Given the description of an element on the screen output the (x, y) to click on. 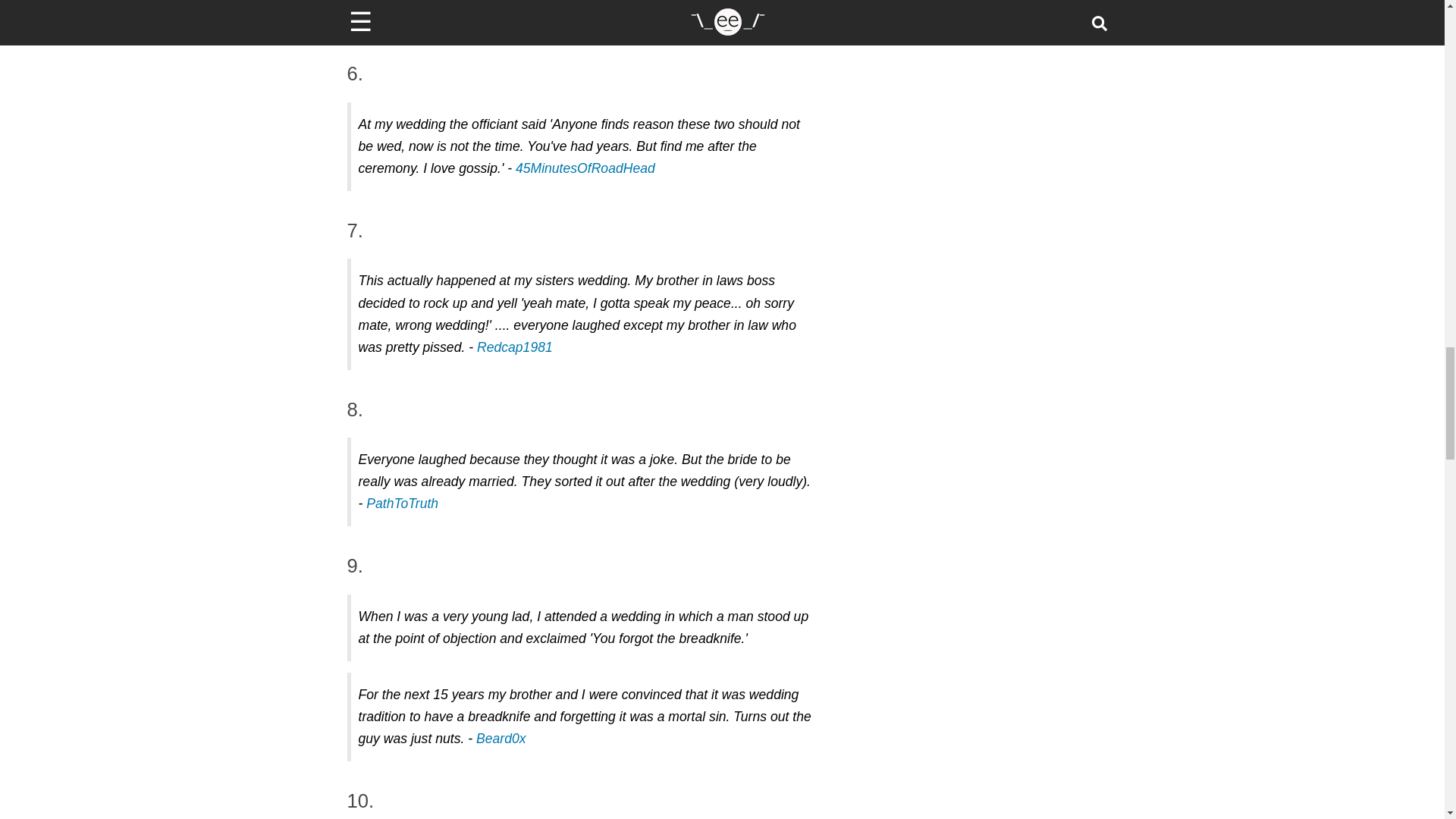
Redcap1981 (515, 346)
ilickvarts (383, 11)
45MinutesOfRoadHead (585, 168)
PathToTruth (402, 503)
Beard0x (500, 738)
